Given the description of an element on the screen output the (x, y) to click on. 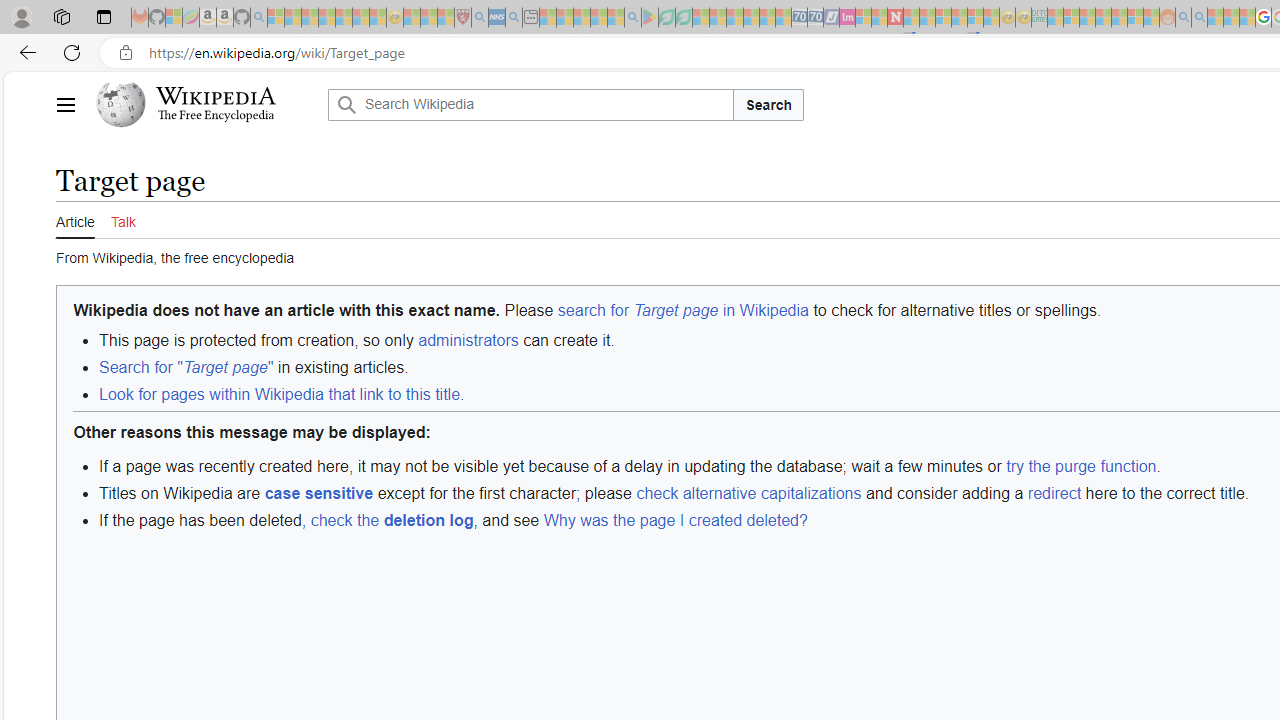
Article (75, 219)
Article (75, 219)
Talk (122, 219)
Search for "Target page" (185, 368)
